Given the description of an element on the screen output the (x, y) to click on. 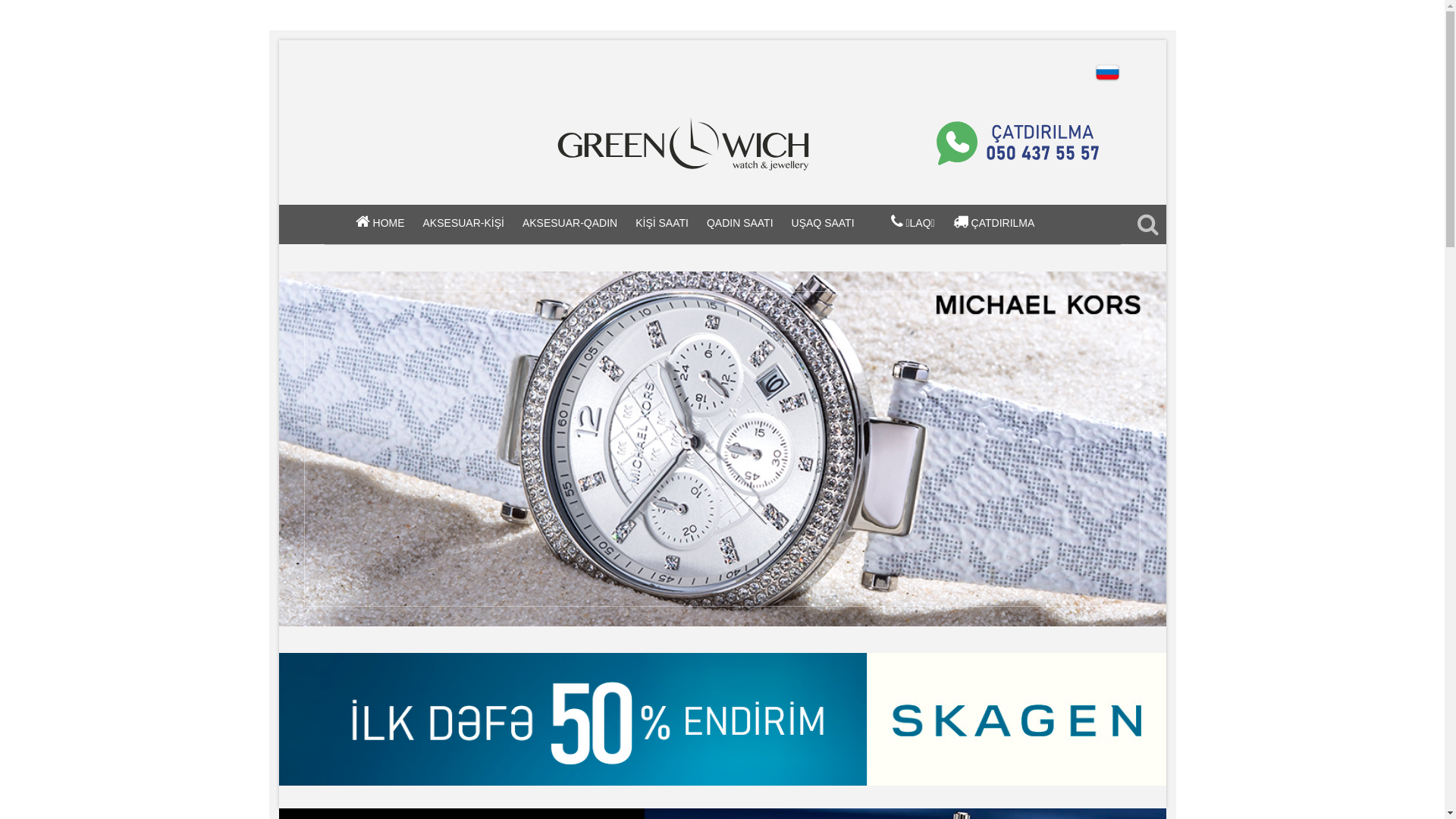
Greenwich Element type: hover (722, 719)
QADIN SAATI Element type: text (739, 222)
Greenwich Element type: hover (722, 142)
AKSESUAR-QADIN Element type: text (569, 222)
HOME Element type: text (388, 222)
